Given the description of an element on the screen output the (x, y) to click on. 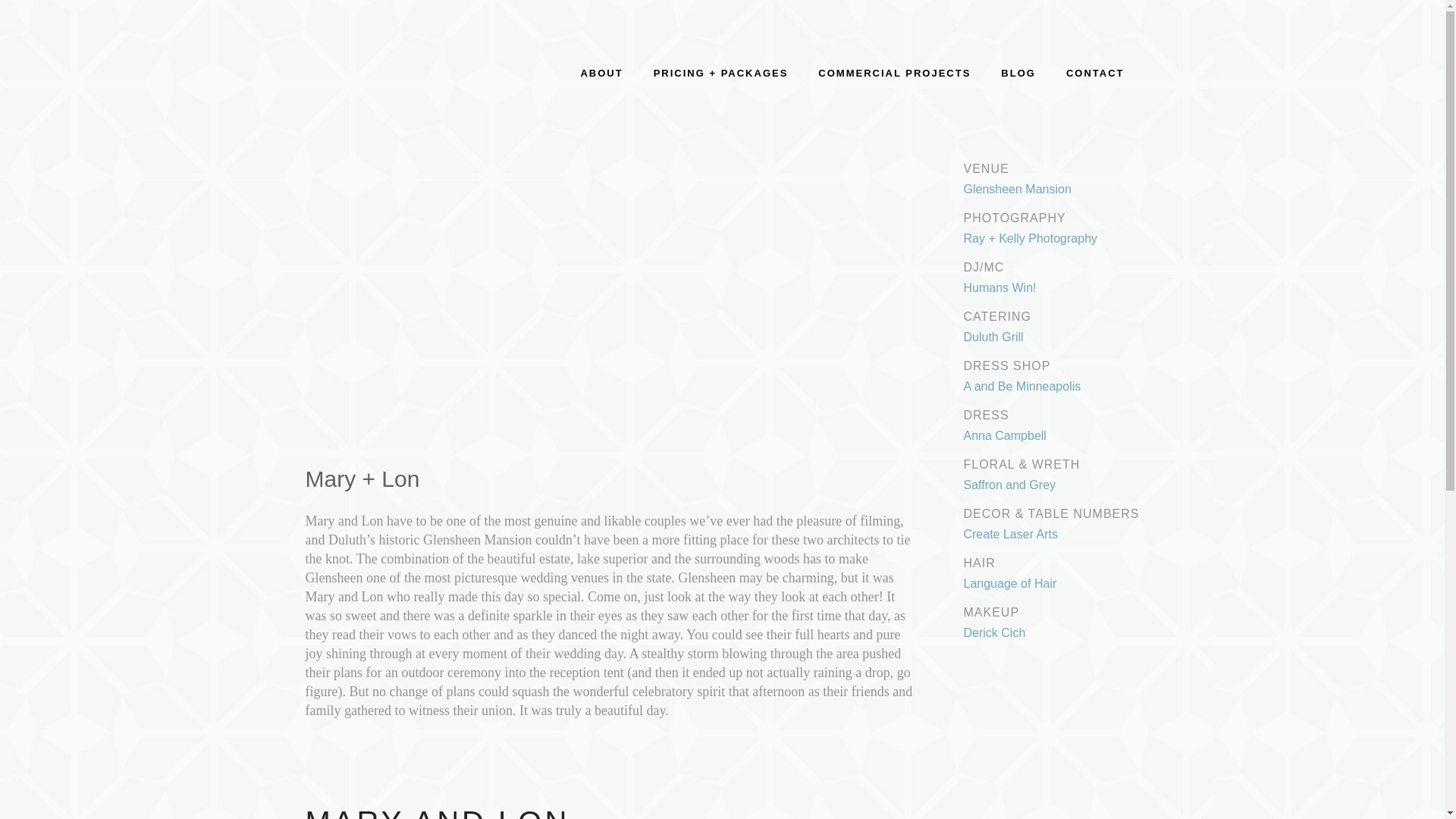
Glensheen Mansion (1016, 188)
Duluth Grill (992, 336)
Anna Campbell (1003, 435)
Humans Win! (998, 287)
A and Be Minneapolis (1021, 386)
Saffron and Grey (1008, 484)
COMMERCIAL PROJECTS (894, 72)
Language of Hair (1009, 583)
Create Laser Arts (1010, 533)
Derick Cich (993, 632)
CONTACT (1095, 72)
